Given the description of an element on the screen output the (x, y) to click on. 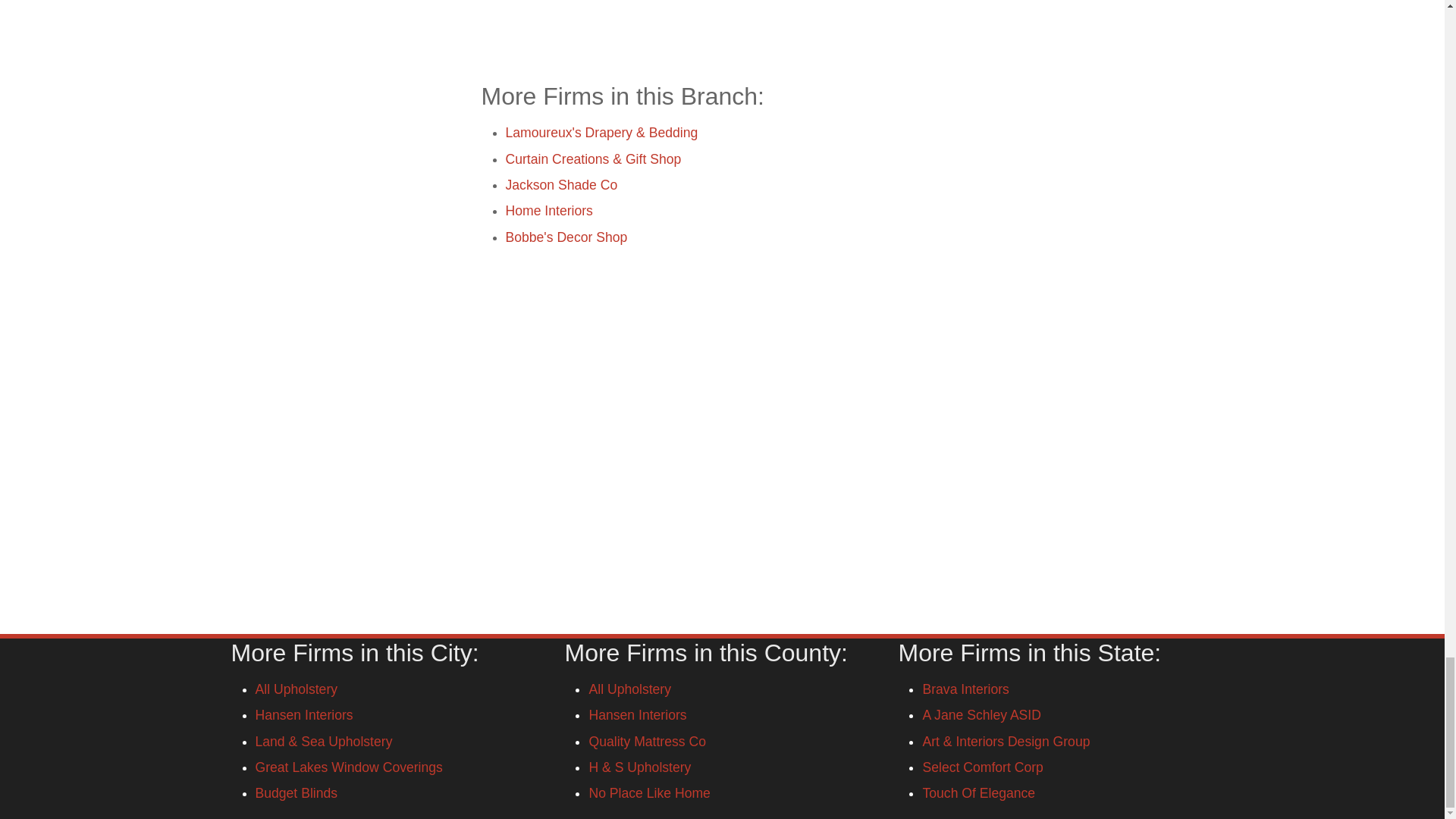
Home Interiors (548, 210)
Bobbe's Decor Shop (566, 237)
Jackson Shade Co (561, 184)
